Given the description of an element on the screen output the (x, y) to click on. 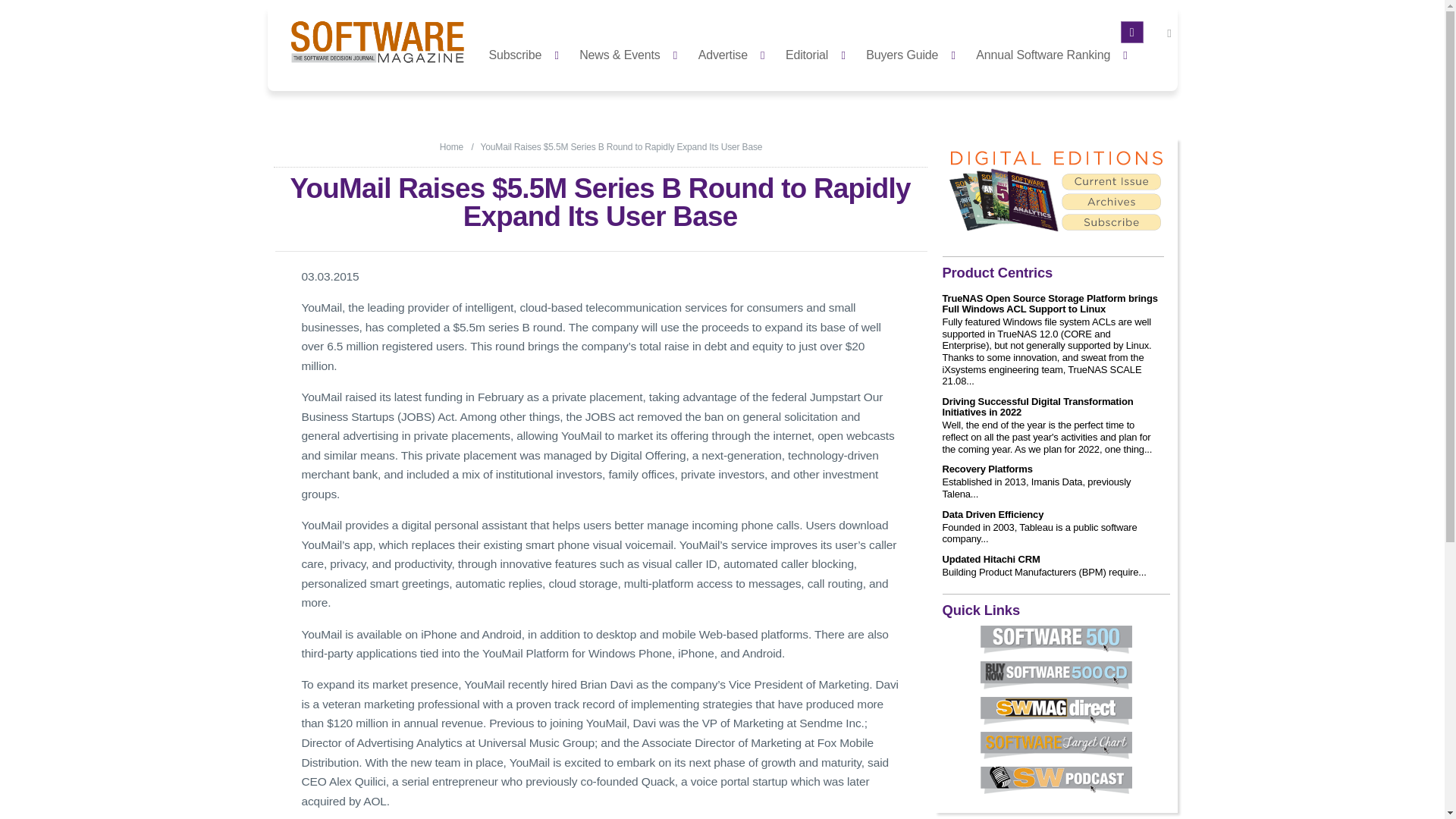
Advertise (735, 53)
Home (451, 146)
Editorial (819, 53)
Recovery Platforms (987, 469)
Software Magazine (451, 146)
Annual Software Ranking (1056, 53)
Updated Hitachi CRM (990, 559)
Subscribe (527, 53)
Buyers Guide (915, 53)
Data Driven Efficiency (992, 514)
